Given the description of an element on the screen output the (x, y) to click on. 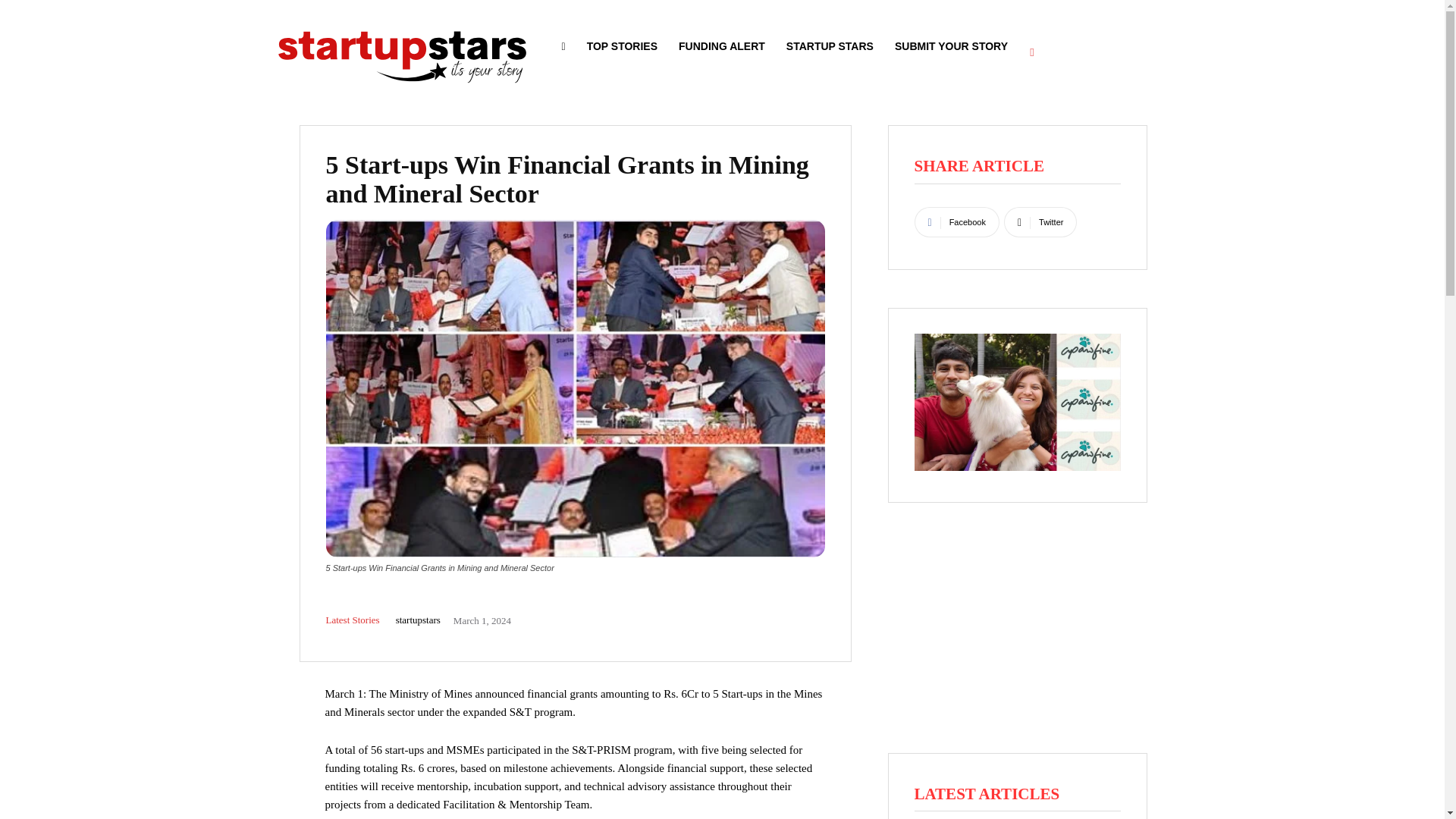
Twitter (1040, 222)
TOP STORIES (622, 45)
STARTUP STARS (829, 45)
Twitter (1040, 222)
SUBMIT YOUR STORY (950, 45)
Facebook (956, 222)
startupstars (418, 619)
Facebook (956, 222)
FUNDING ALERT (722, 45)
Latest Stories (353, 619)
